Given the description of an element on the screen output the (x, y) to click on. 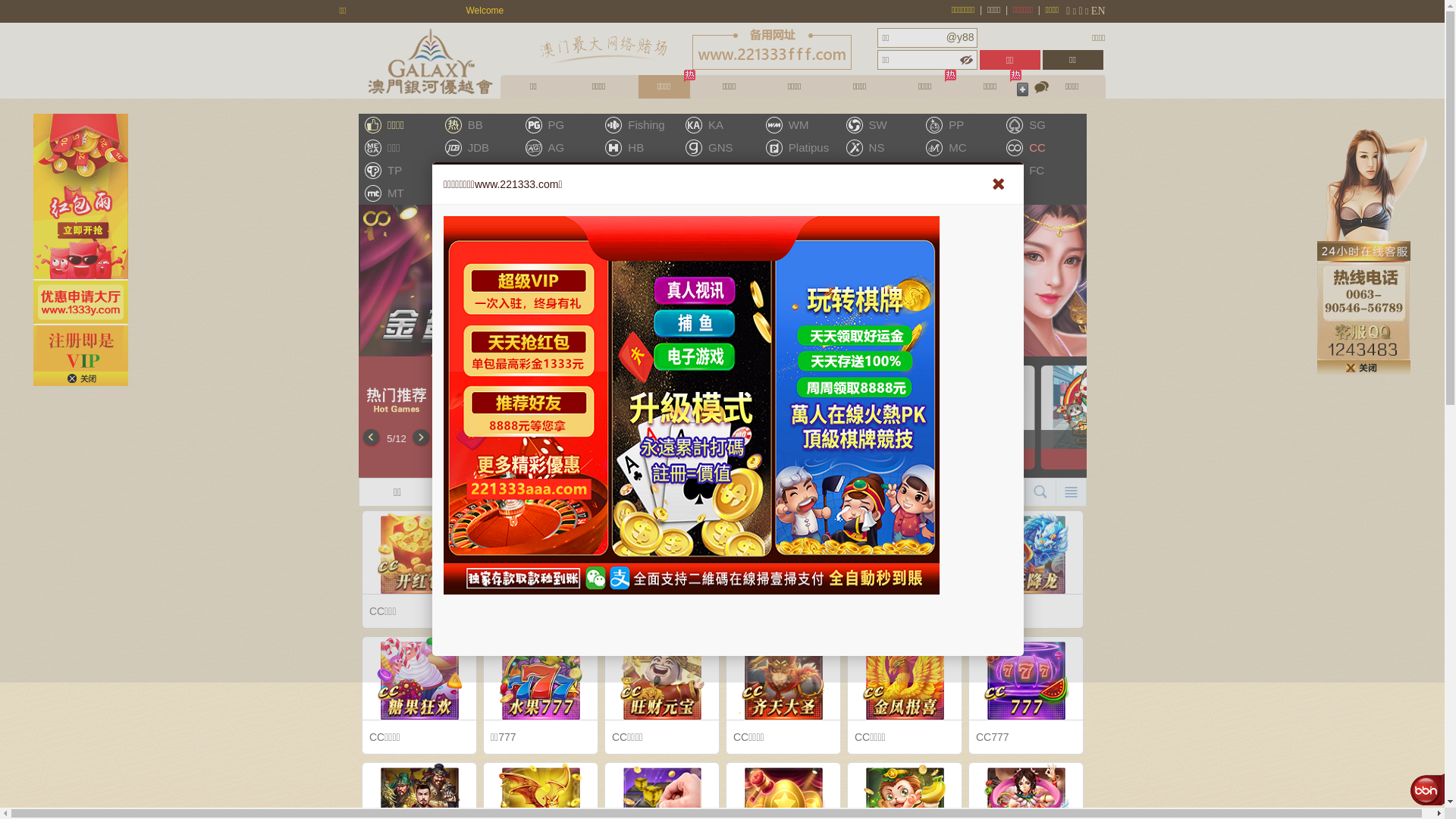
EN Element type: text (1098, 10)
